Given the description of an element on the screen output the (x, y) to click on. 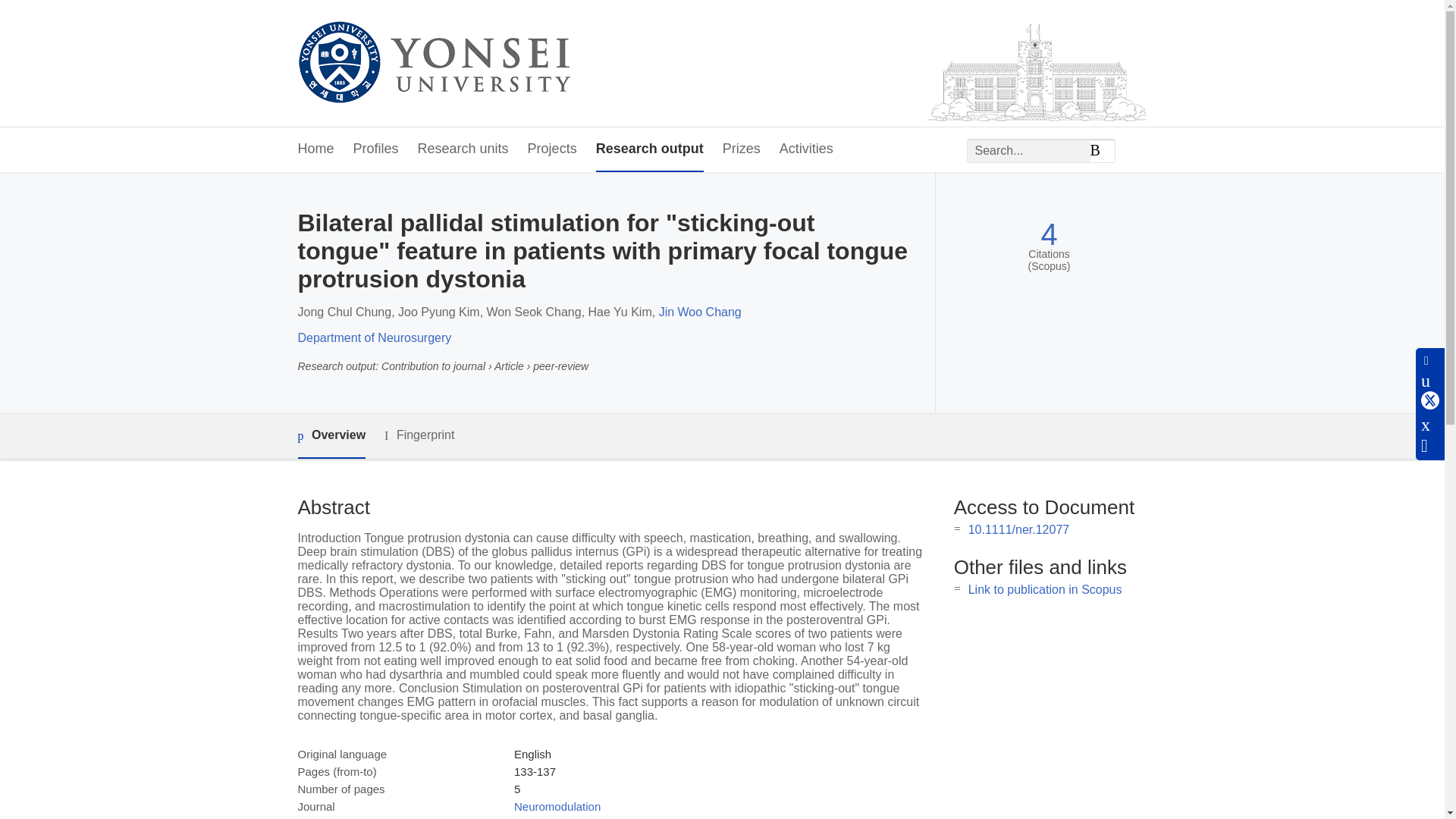
Projects (551, 149)
Research output (649, 149)
Jin Woo Chang (700, 311)
Research units (462, 149)
Overview (331, 436)
Yonsei University Home (433, 63)
Profiles (375, 149)
Activities (805, 149)
Fingerprint (419, 435)
Neuromodulation (556, 806)
Department of Neurosurgery (374, 337)
4 (1049, 234)
Prizes (741, 149)
Link to publication in Scopus (1045, 589)
